Given the description of an element on the screen output the (x, y) to click on. 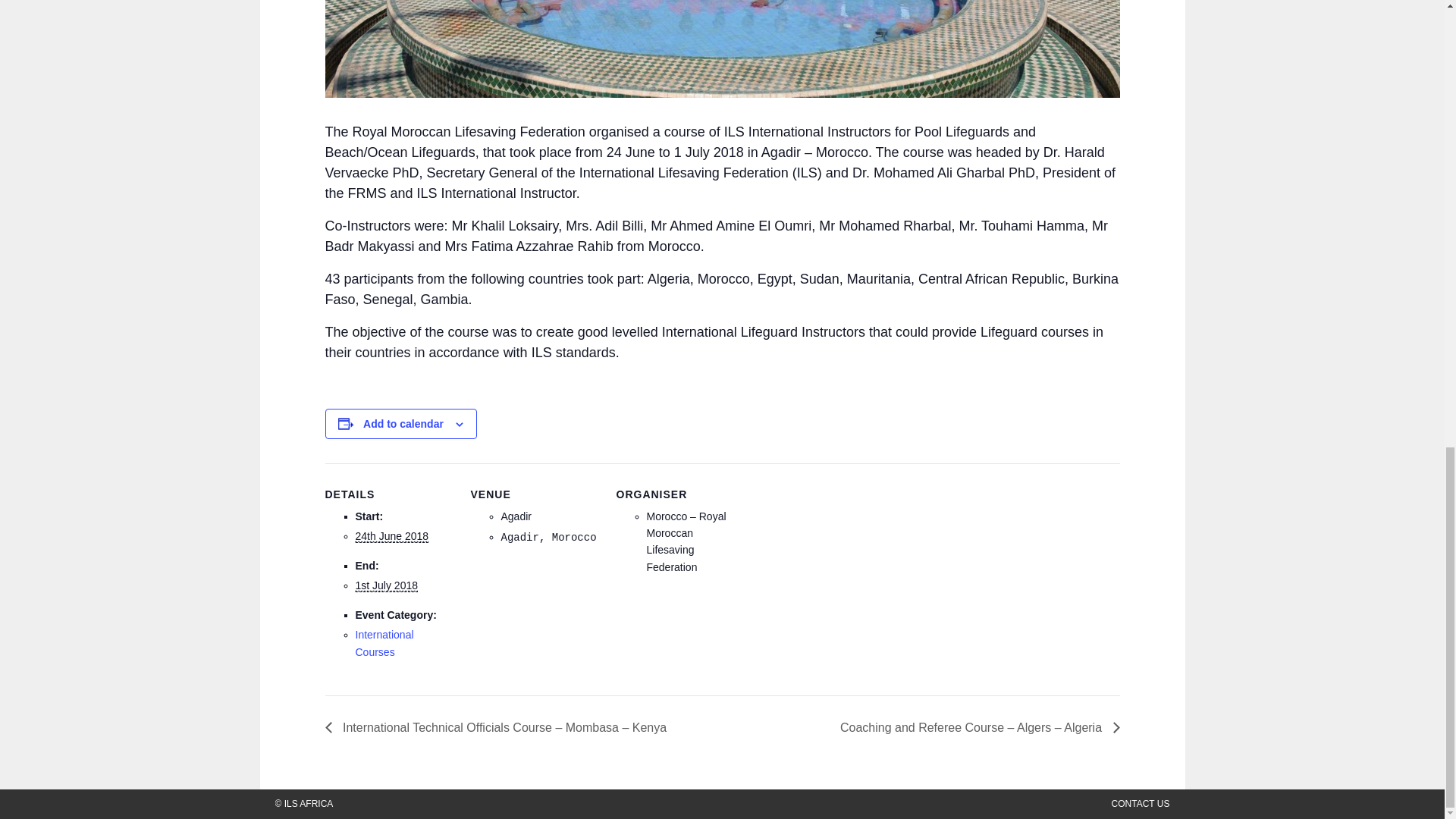
International Courses (384, 642)
2018-07-01 (386, 585)
2018-06-24 (391, 535)
Add to calendar (403, 423)
CONTACT US (1141, 803)
